Given the description of an element on the screen output the (x, y) to click on. 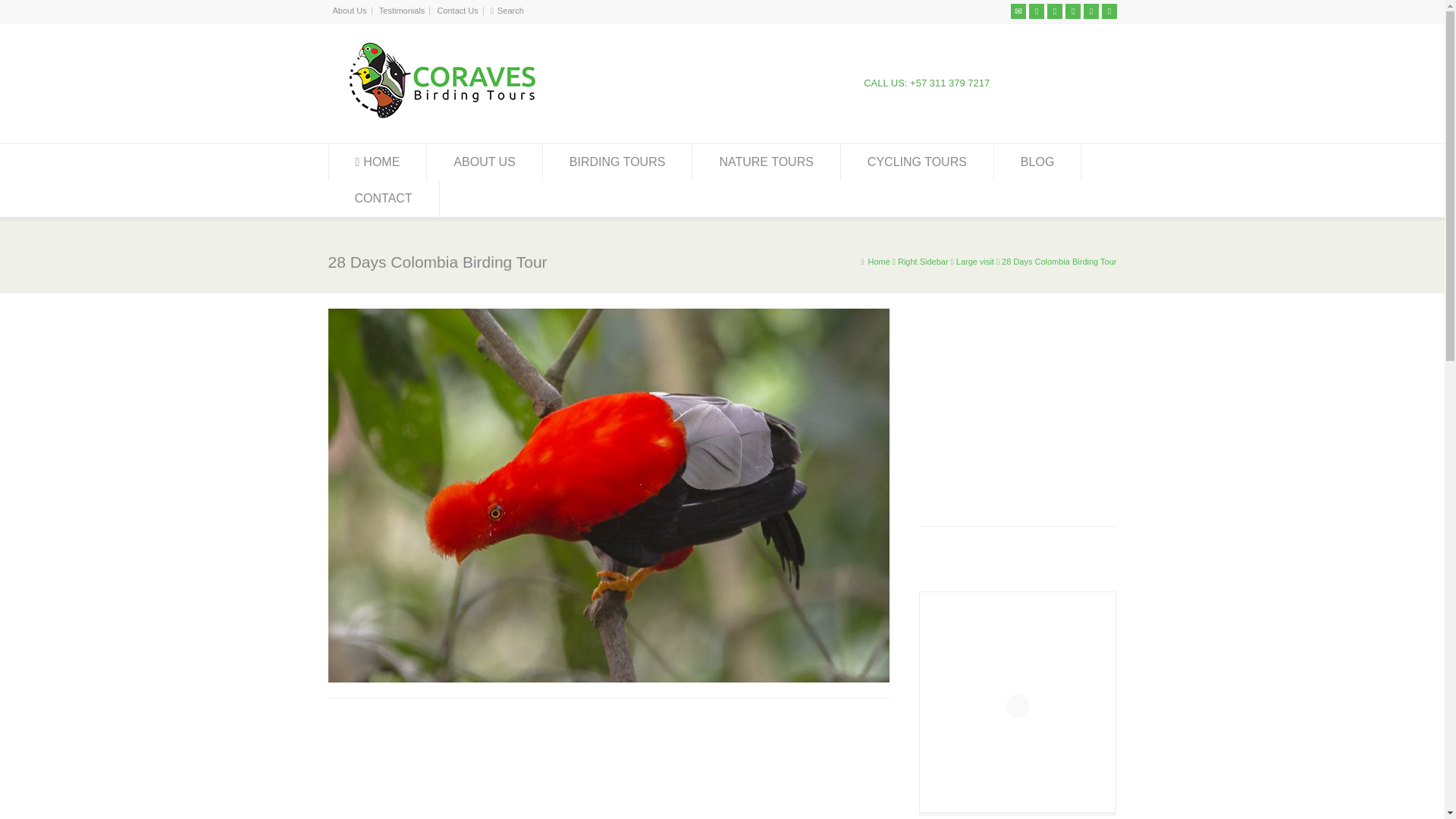
Facebook (1053, 11)
Contact Us (456, 10)
Flickr (1072, 11)
Large visit (975, 261)
Twitter (1035, 11)
Right Sidebar (923, 261)
ABOUT US (483, 162)
Instagram (1090, 11)
CYCLING TOURS (916, 162)
